Given the description of an element on the screen output the (x, y) to click on. 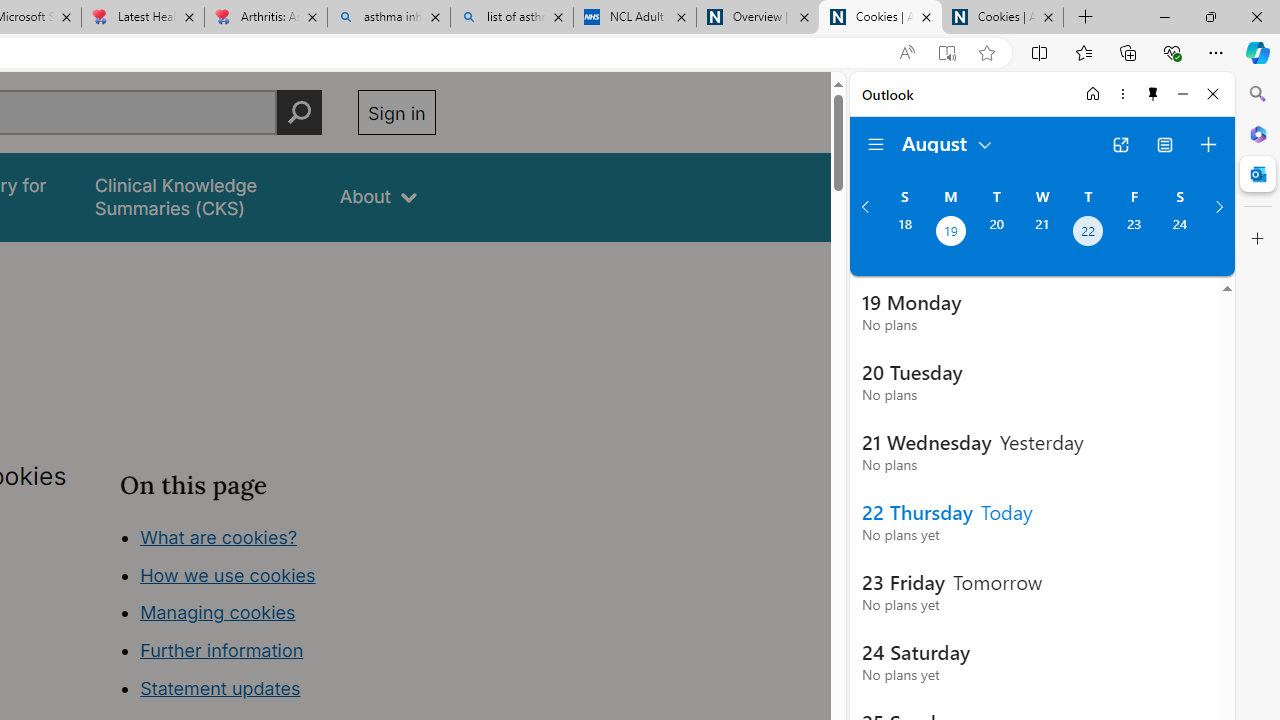
Thursday, August 22, 2024. Today.  (1088, 233)
Class: in-page-nav__list (277, 615)
asthma inhaler - Search (388, 17)
Open in new tab (1120, 144)
Monday, August 19, 2024. Date selected.  (950, 233)
Perform search (299, 112)
Cookies | About | NICE (1002, 17)
Create event (1208, 144)
